Given the description of an element on the screen output the (x, y) to click on. 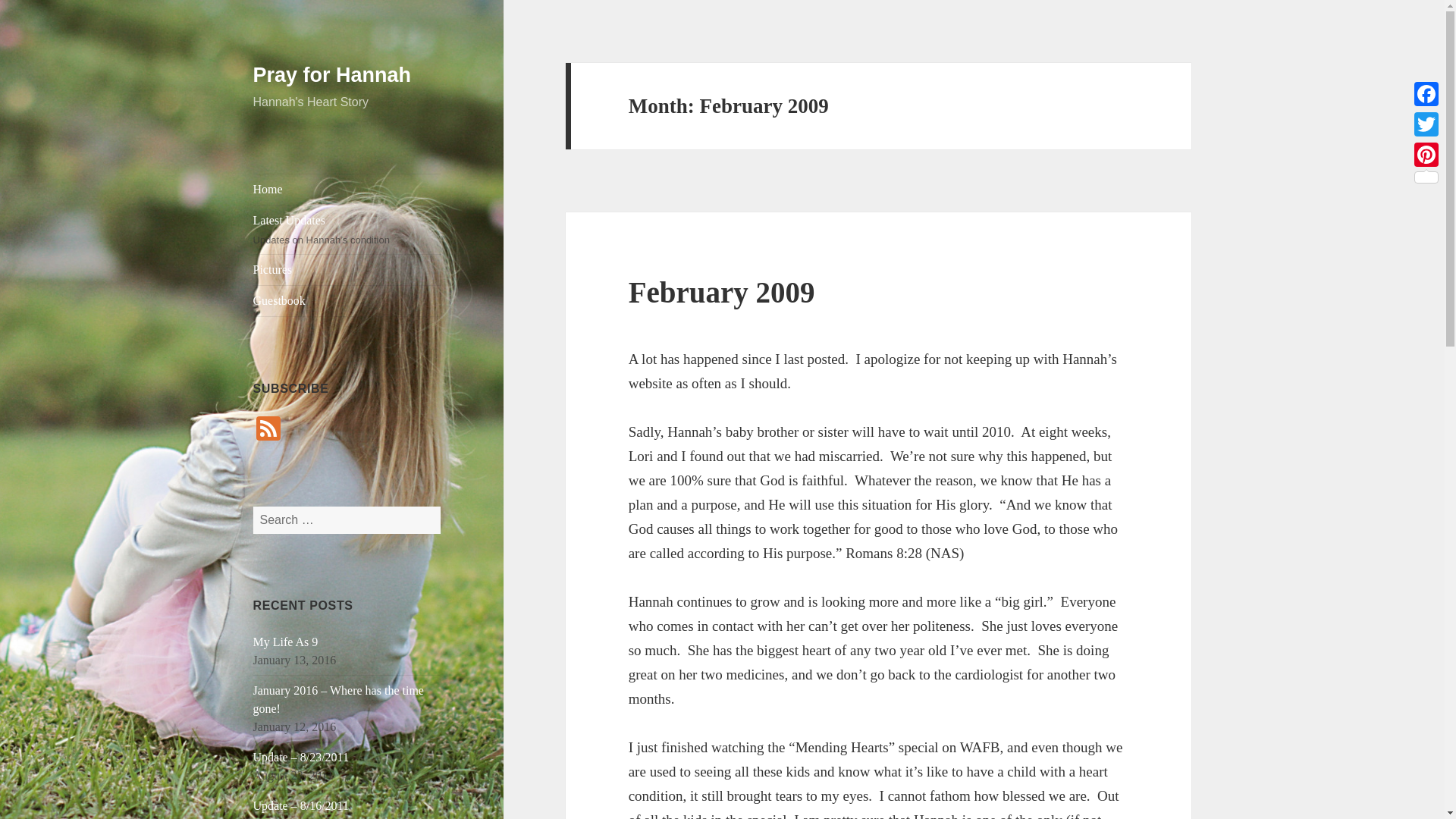
Feed (268, 430)
My Life As 9 (285, 641)
Facebook (1425, 93)
Home (347, 189)
February 2009 (721, 292)
Twitter (1425, 123)
Pictures (347, 269)
Pray for Hannah (332, 74)
Guestbook (347, 300)
RSS Feed (268, 430)
